Given the description of an element on the screen output the (x, y) to click on. 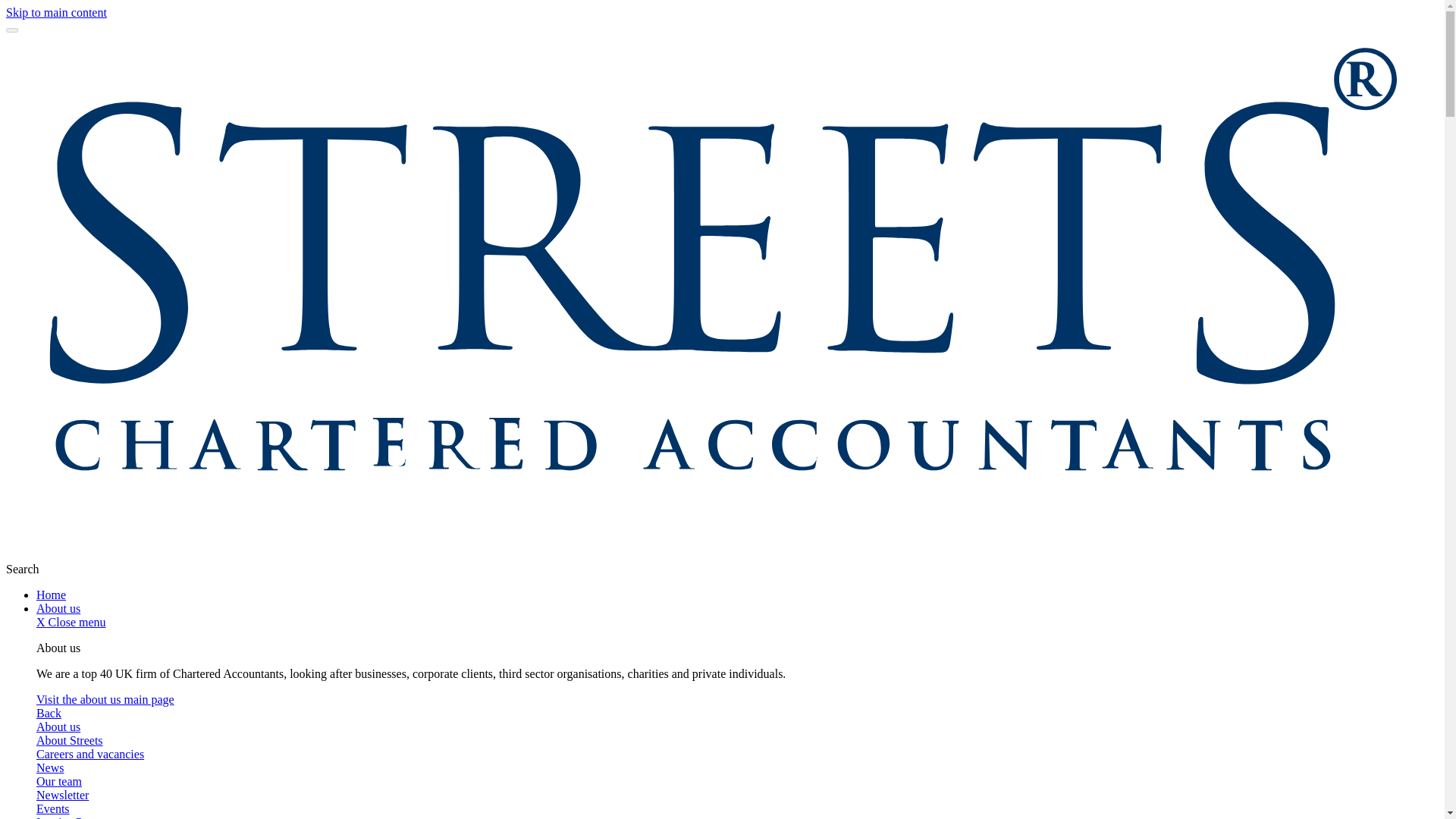
Visit the about us main page (105, 698)
About Streets (69, 739)
About us (58, 608)
Invoice Payment (76, 817)
X Close menu (71, 621)
Open submenu for About us (58, 608)
Back (48, 712)
Our team (58, 780)
Home (50, 594)
Events (52, 808)
